Given the description of an element on the screen output the (x, y) to click on. 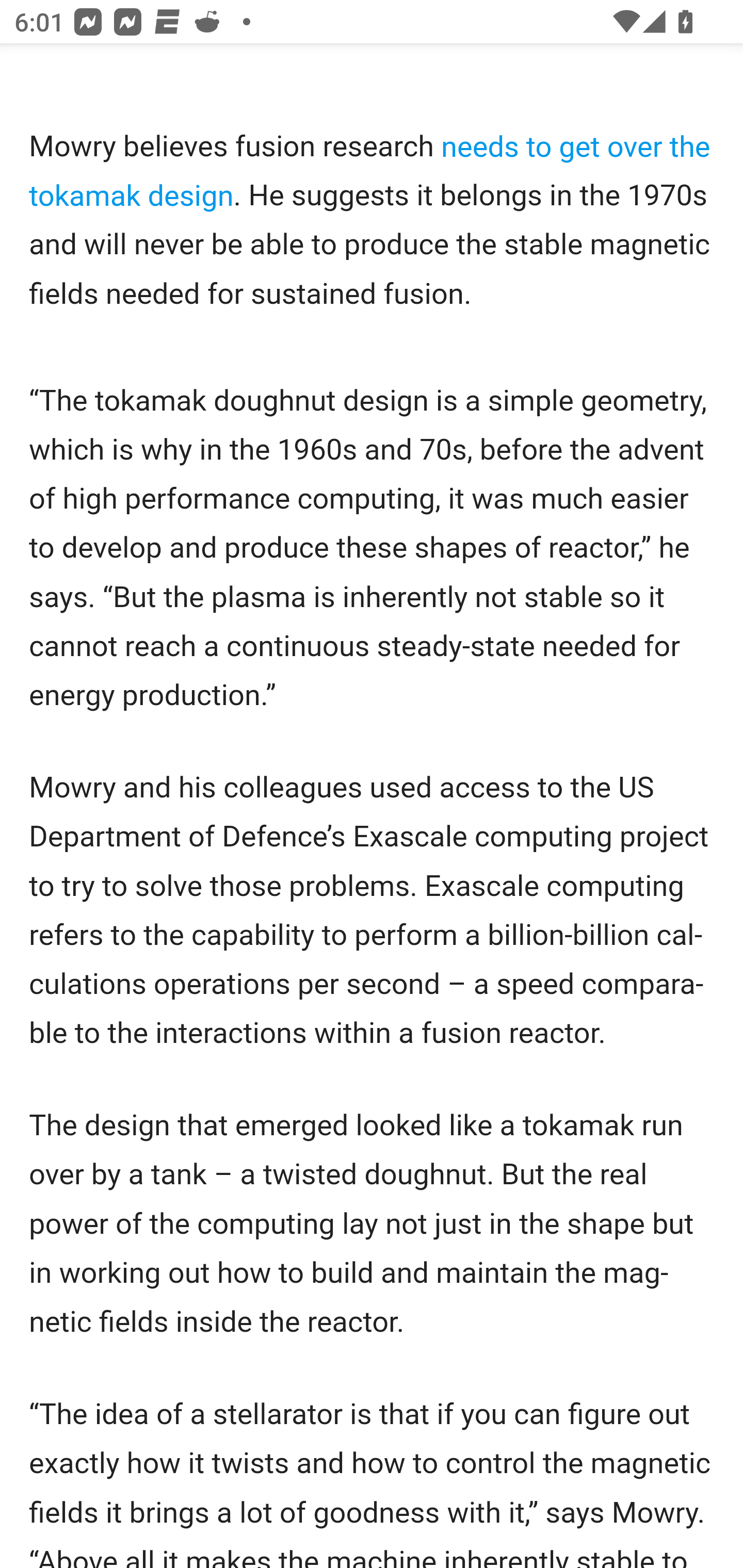
needs to get over the tokamak design (369, 170)
